Given the description of an element on the screen output the (x, y) to click on. 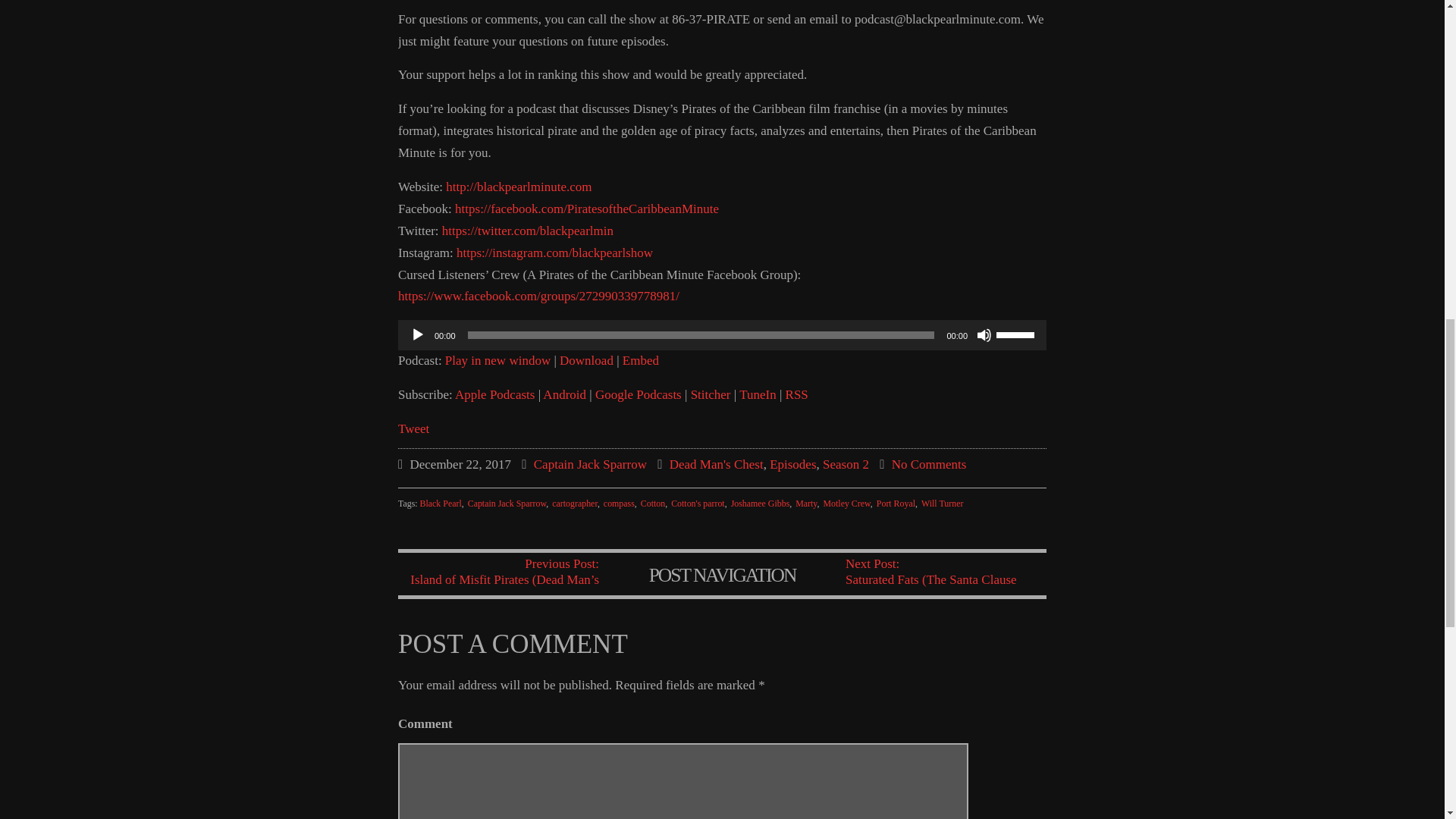
Apple Podcasts (494, 394)
Download (585, 359)
Play in new window (497, 359)
Subscribe on Apple Podcasts (494, 394)
Subscribe on Google Podcasts (638, 394)
Subscribe on TuneIn (757, 394)
Play (417, 335)
Download (585, 359)
Embed (641, 359)
Subscribe via RSS (797, 394)
Embed (641, 359)
Mute (983, 335)
Subscribe on Android (564, 394)
Subscribe on Stitcher (710, 394)
Play in new window (497, 359)
